Given the description of an element on the screen output the (x, y) to click on. 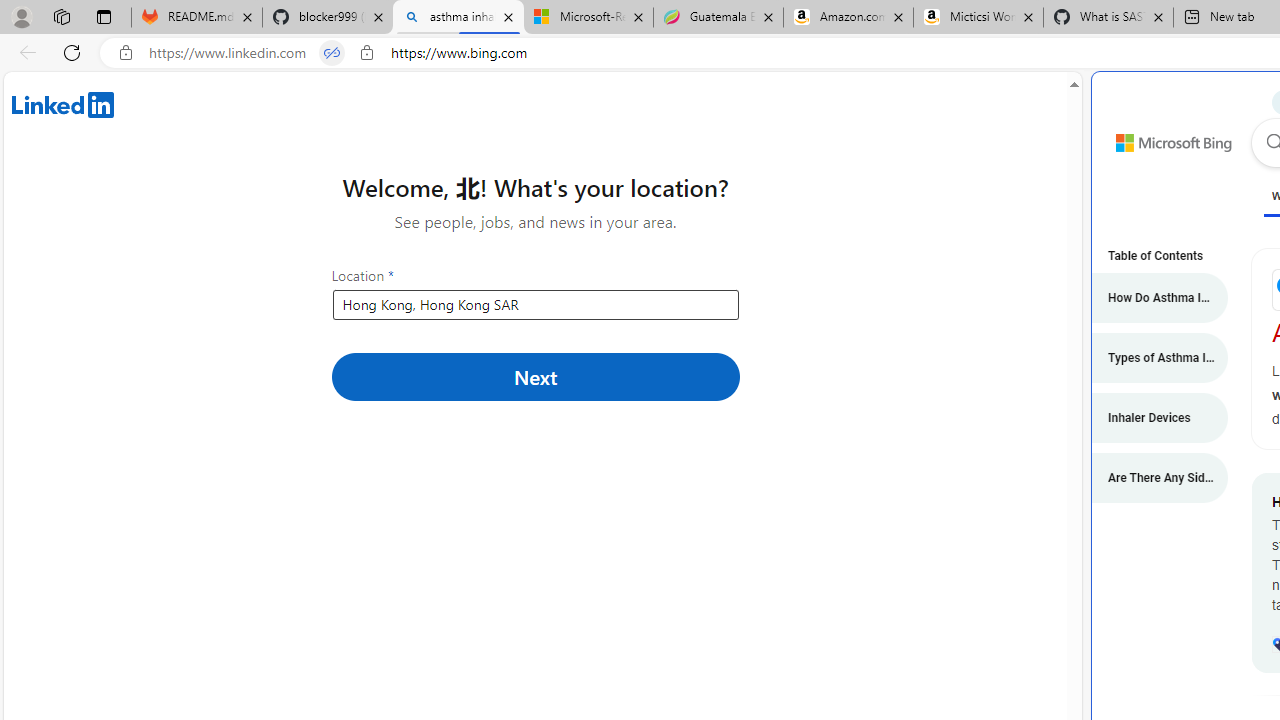
Skip to content (1151, 133)
How Do Asthma Inhalers Work? (1149, 297)
Inhaler Devices (1149, 417)
Back to Bing search (1161, 138)
